Given the description of an element on the screen output the (x, y) to click on. 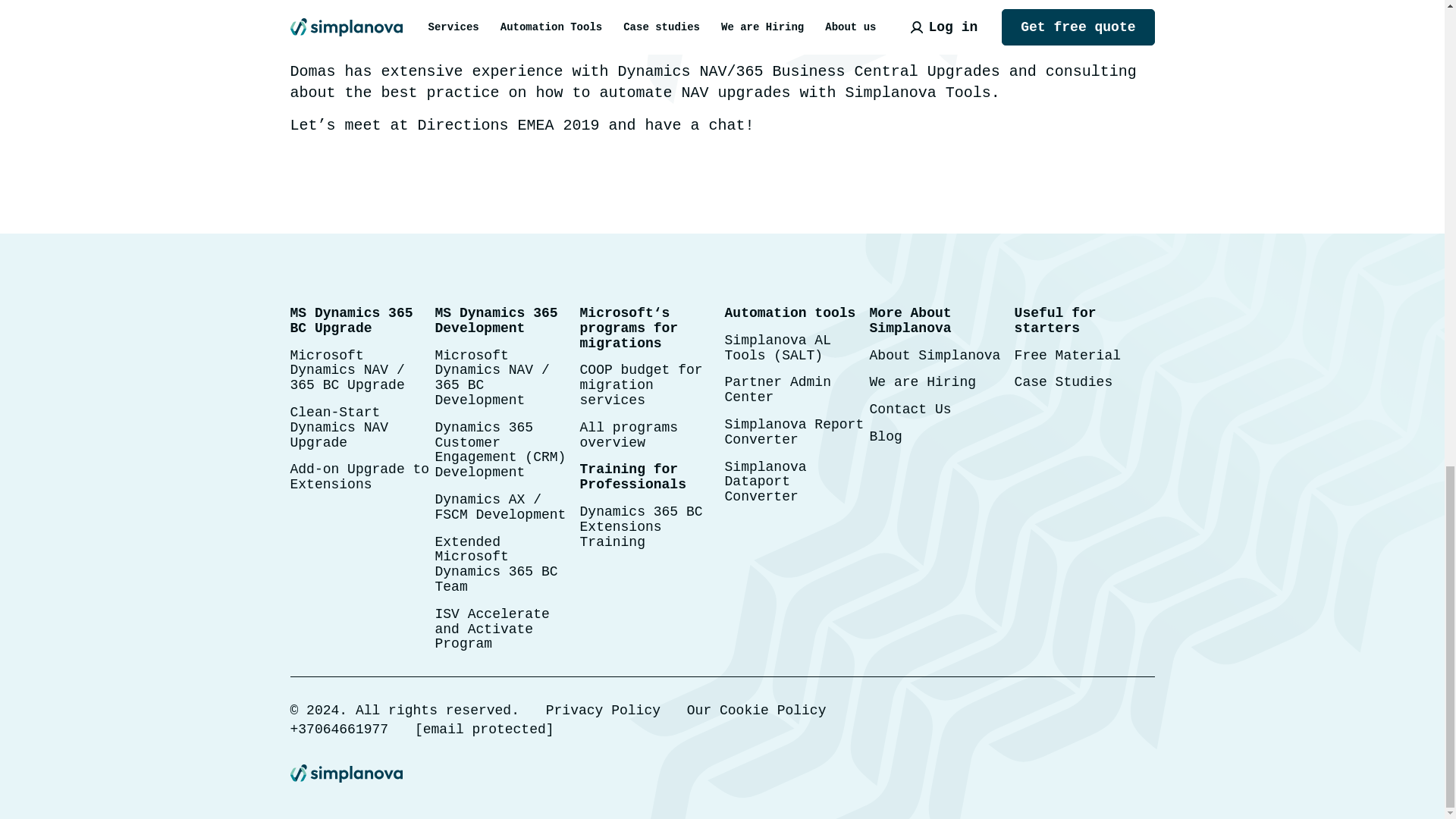
MS Dynamics 365 Development (496, 320)
Add-on Upgrade to Extensions (359, 476)
Clean-Start Dynamics NAV Upgrade (338, 427)
MS Dynamics 365 BC Upgrade (350, 320)
